Given the description of an element on the screen output the (x, y) to click on. 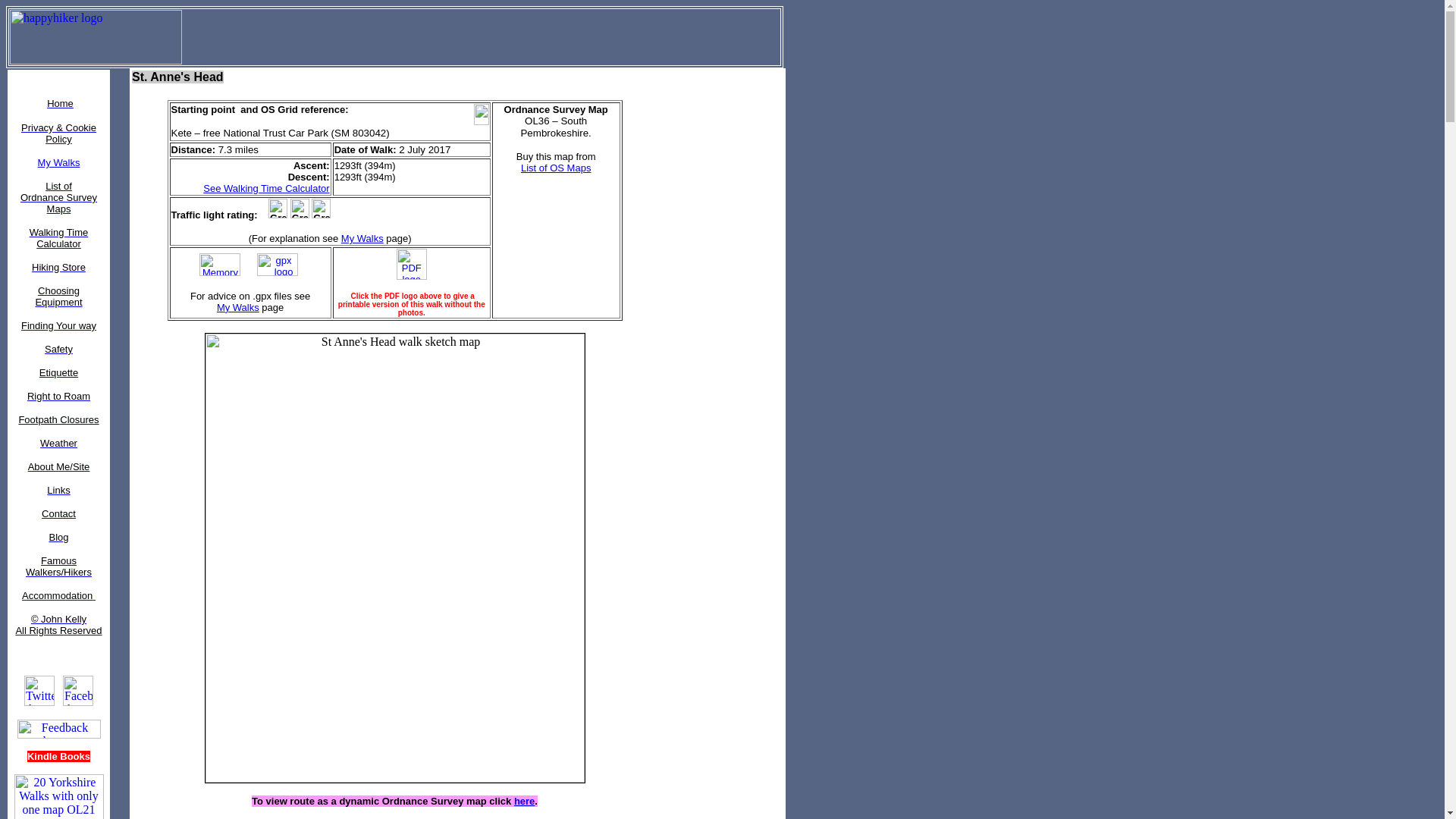
My Walks (263, 313)
Etiquette (58, 372)
Weather (58, 442)
Blog (58, 535)
Links (57, 490)
Safety (58, 348)
My Walks (362, 238)
See Walking Time Calculator (266, 193)
List of OS Maps (556, 167)
Right to Roam (58, 396)
Footpath Closures (58, 419)
here (523, 800)
Walking Time Calculator (58, 237)
Hiking Store (58, 266)
